Given the description of an element on the screen output the (x, y) to click on. 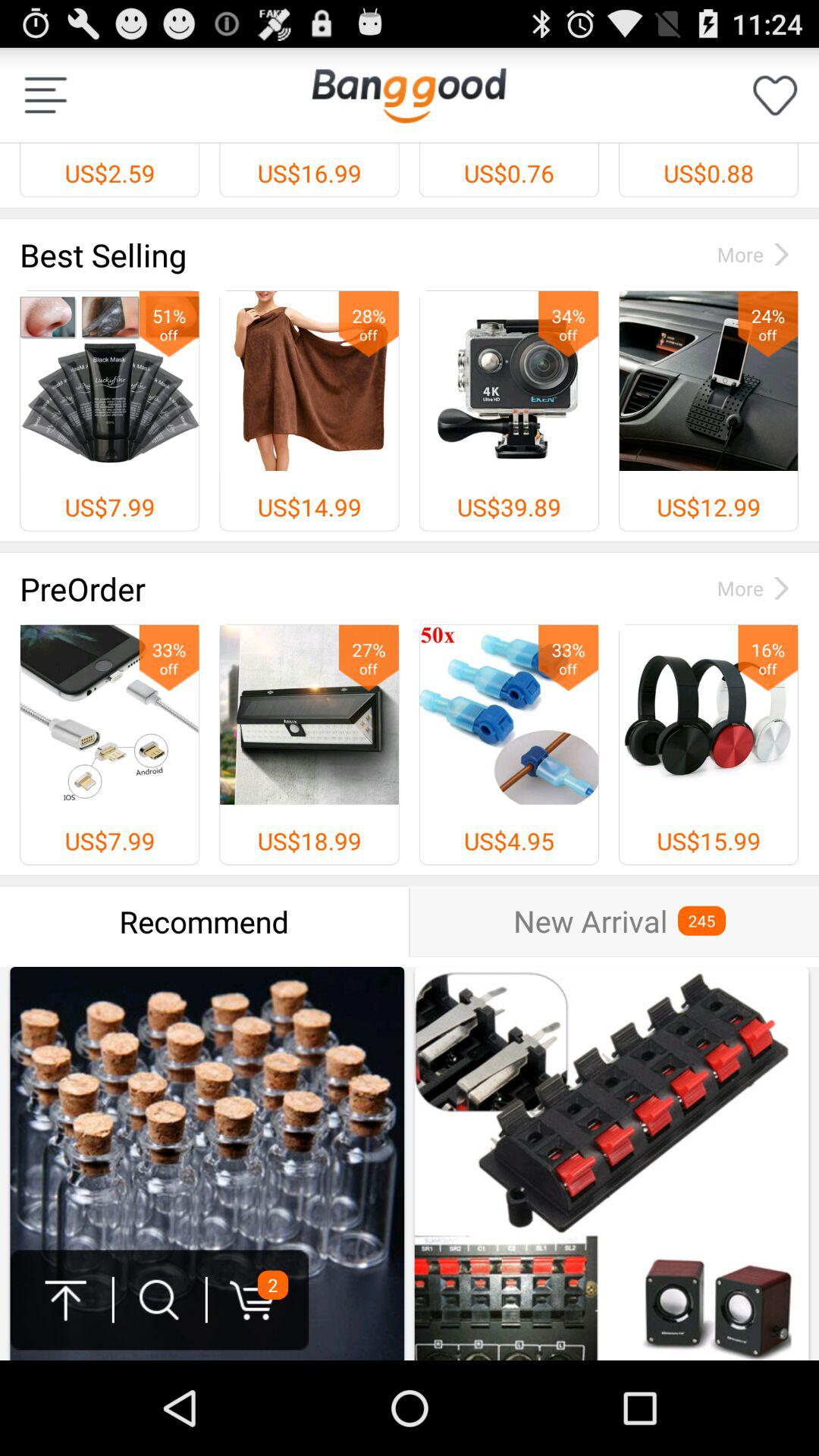
menu (45, 95)
